Given the description of an element on the screen output the (x, y) to click on. 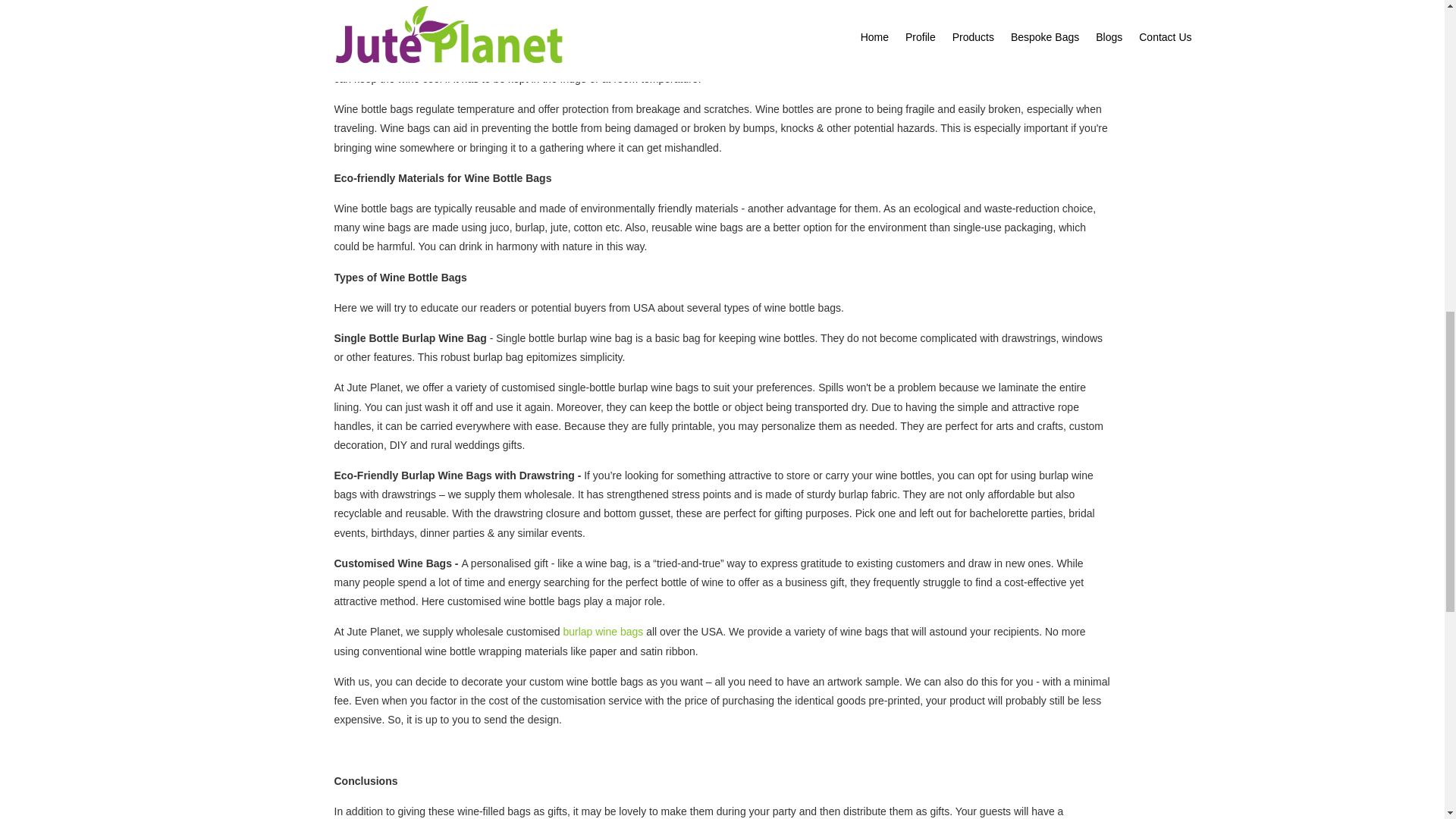
burlap wine bags (602, 631)
